Given the description of an element on the screen output the (x, y) to click on. 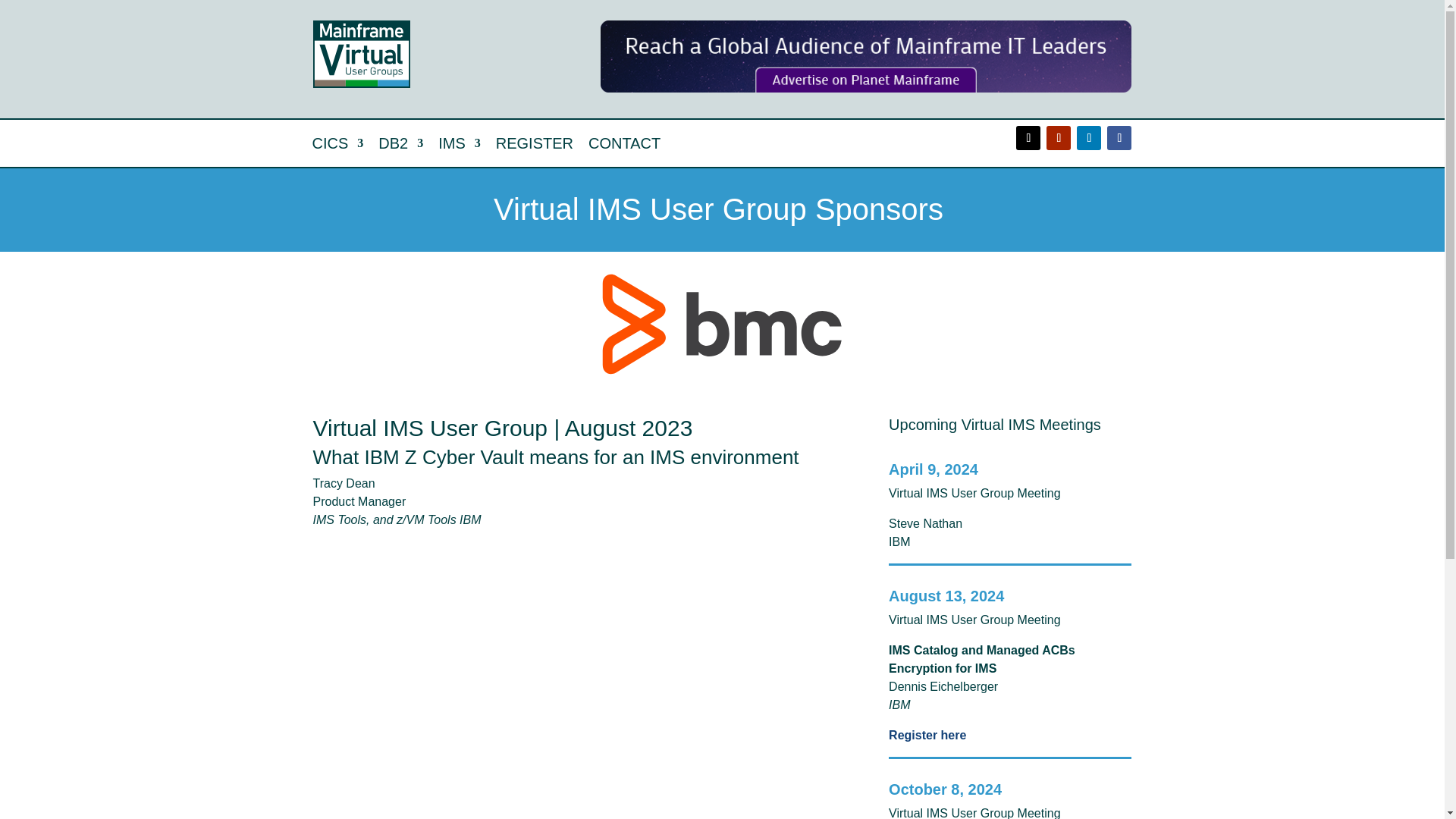
Follow on LinkedIn (1088, 137)
Follow on X (1028, 137)
Mainframe Virtual User Groups (361, 53)
REGISTER (534, 145)
CONTACT (624, 145)
IMS (459, 145)
DB2 (400, 145)
CICS (338, 145)
Follow on Facebook (1118, 137)
Follow on Youtube (1058, 137)
